Given the description of an element on the screen output the (x, y) to click on. 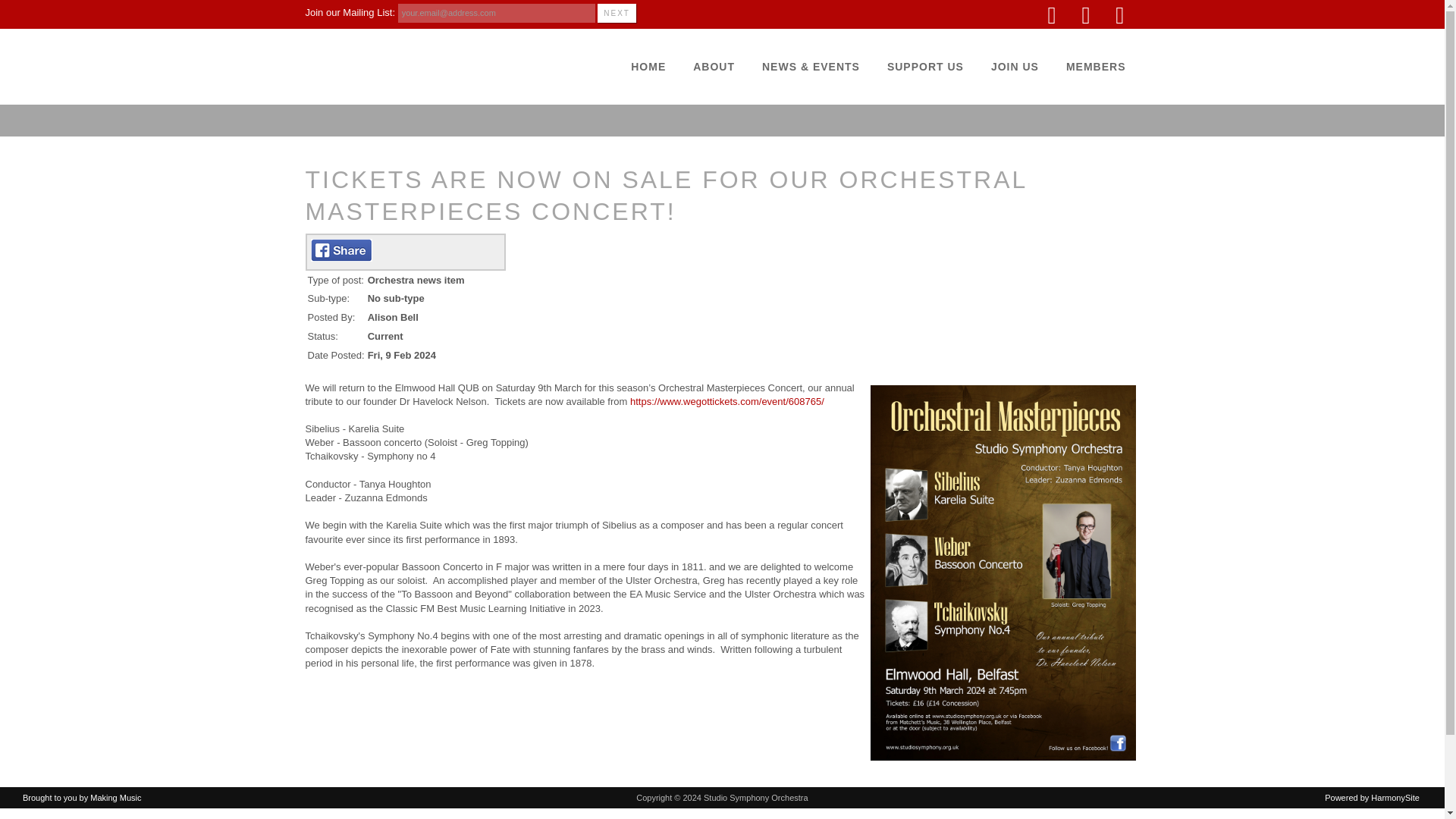
ABOUT (713, 66)
Next (616, 13)
SUPPORT US (924, 66)
Next (616, 13)
Next (616, 13)
MEMBERS (1096, 66)
JOIN US (1014, 66)
